Given the description of an element on the screen output the (x, y) to click on. 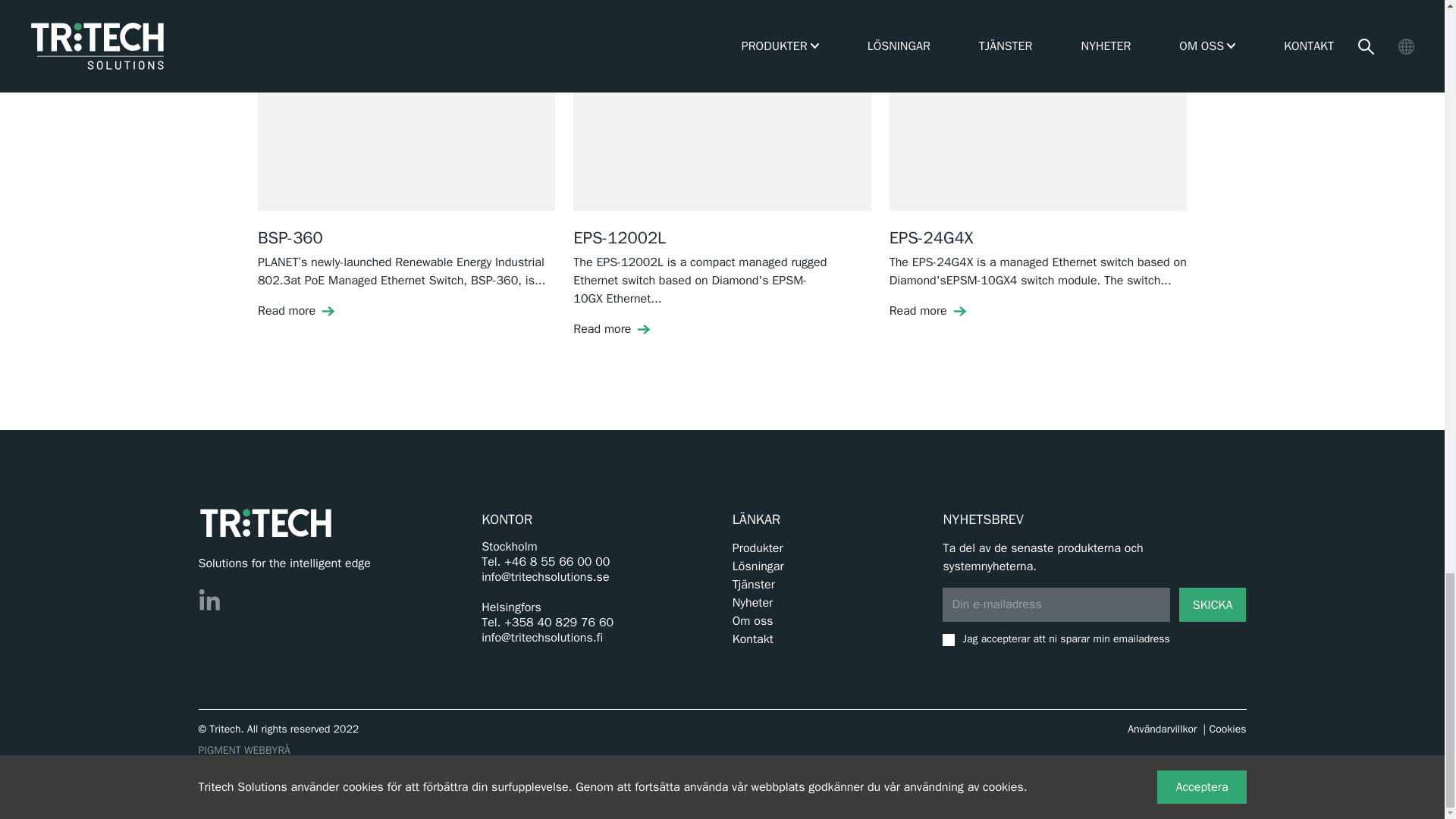
BSP-360 (290, 237)
Tritech (265, 522)
BSP-360 (405, 115)
